Given the description of an element on the screen output the (x, y) to click on. 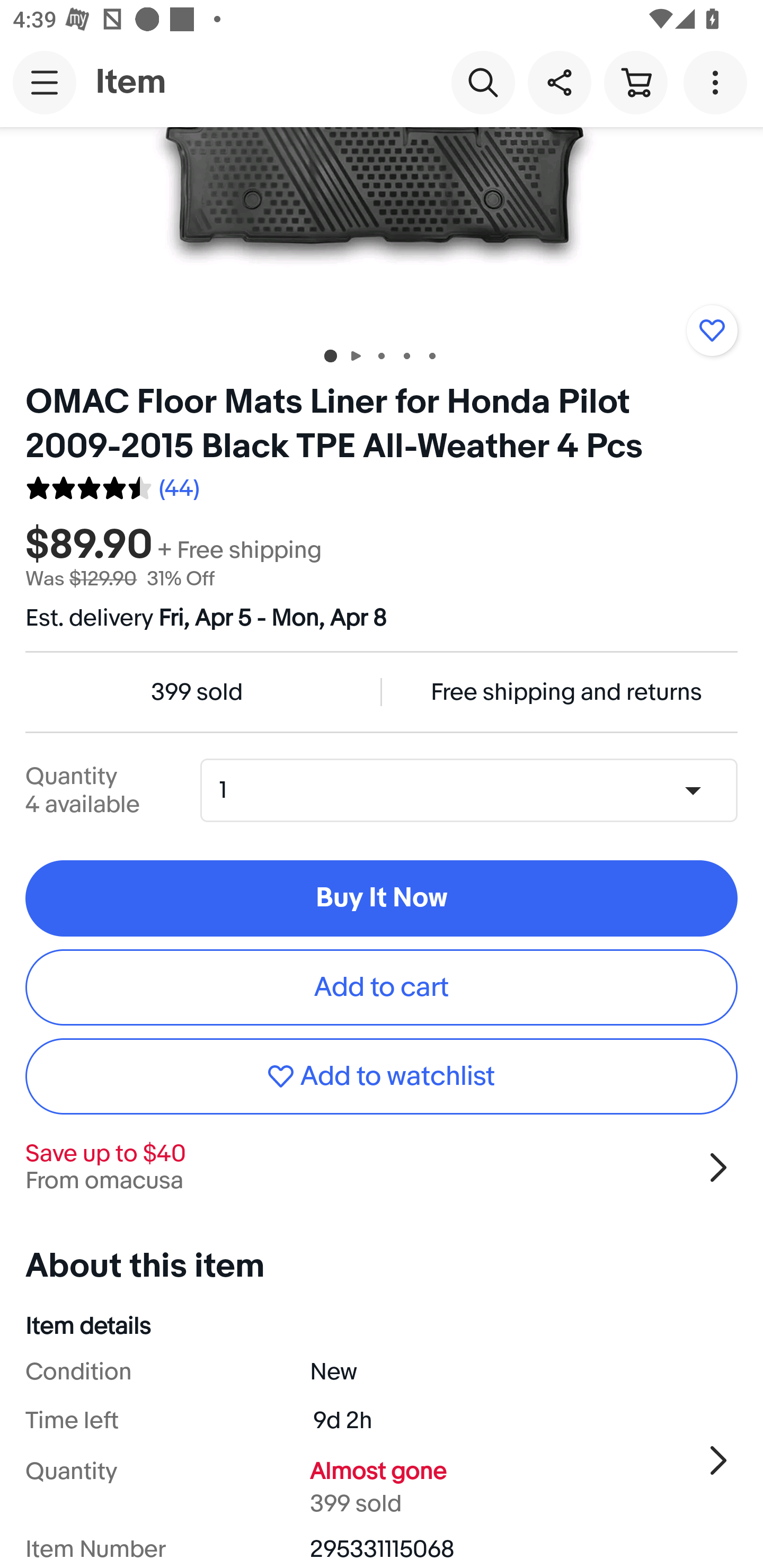
Main navigation, open (44, 82)
Search (482, 81)
Share this item (559, 81)
Cart button shopping cart (635, 81)
More options (718, 81)
Item image 1 of 13 (381, 228)
Add to watchlist (711, 329)
Quantity,1,4 available 1 (474, 790)
Buy It Now (381, 898)
Add to cart (381, 986)
Add to watchlist (381, 1076)
Save up to $40 From omacusa (381, 1166)
